Given the description of an element on the screen output the (x, y) to click on. 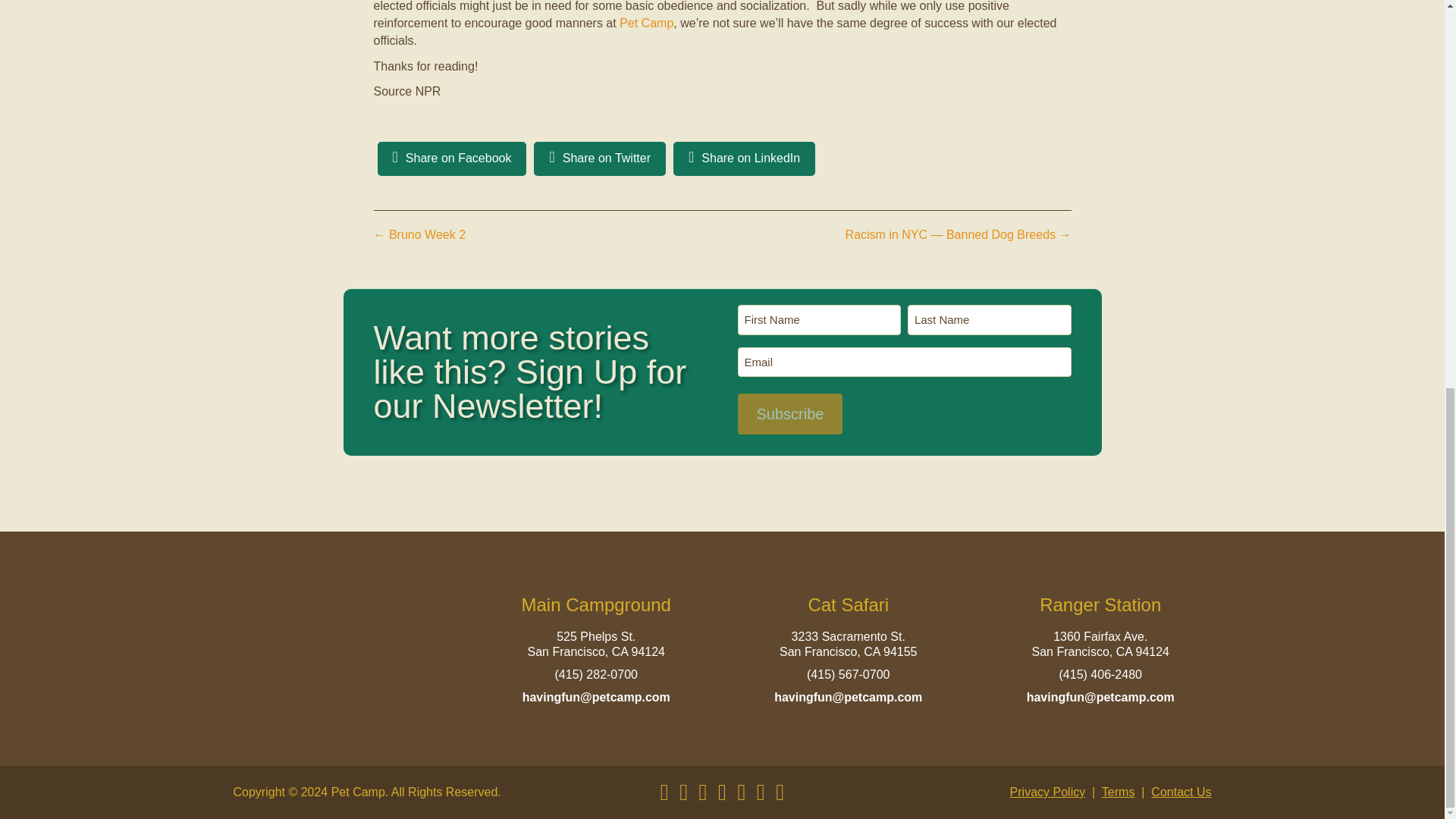
footer-logo (343, 652)
Main Campground (596, 604)
Ranger Station (1099, 604)
Cat Safari (848, 604)
Subscribe (789, 413)
